Given the description of an element on the screen output the (x, y) to click on. 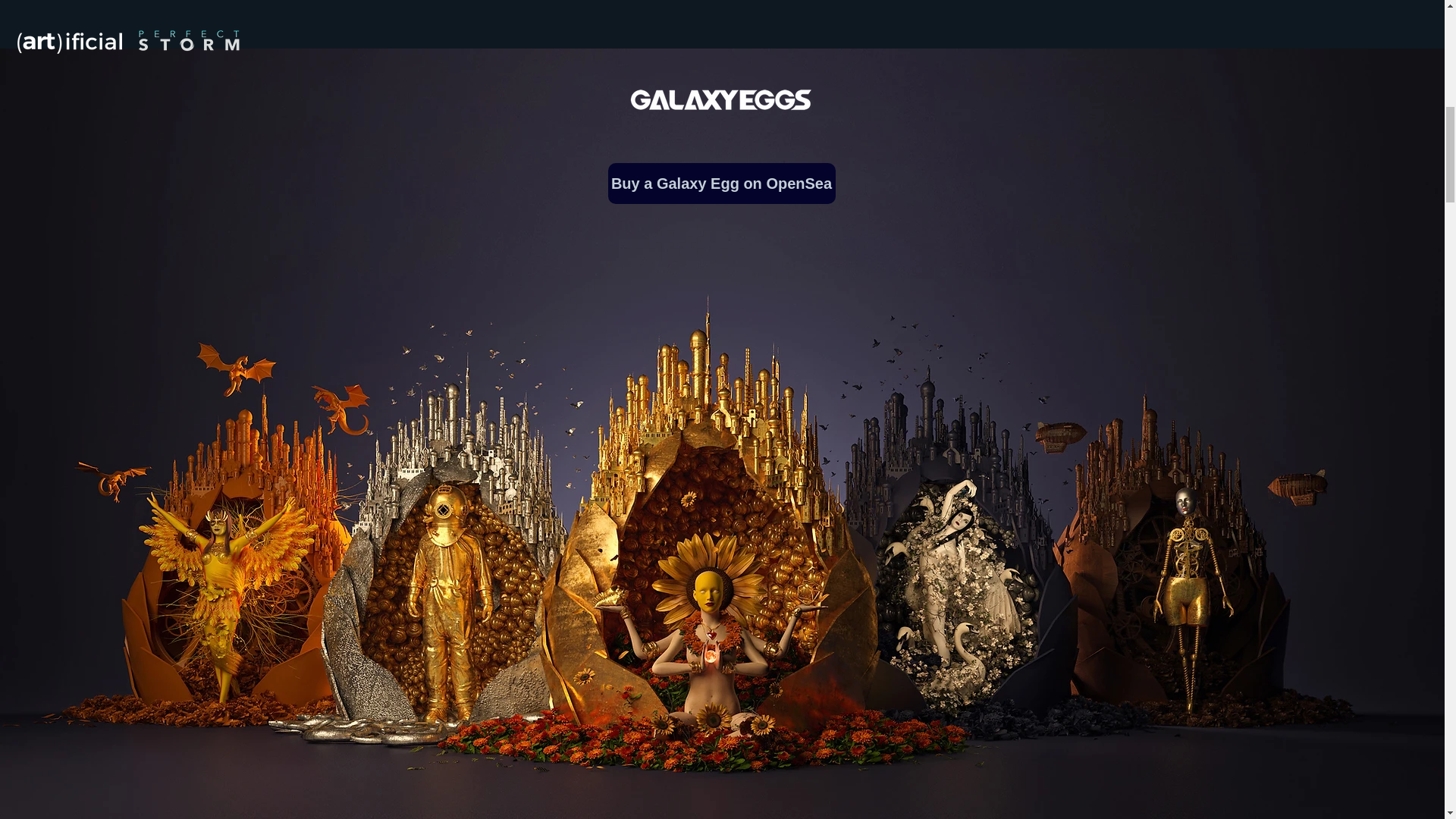
Buy a Galaxy Egg on OpenSea (721, 182)
